Given the description of an element on the screen output the (x, y) to click on. 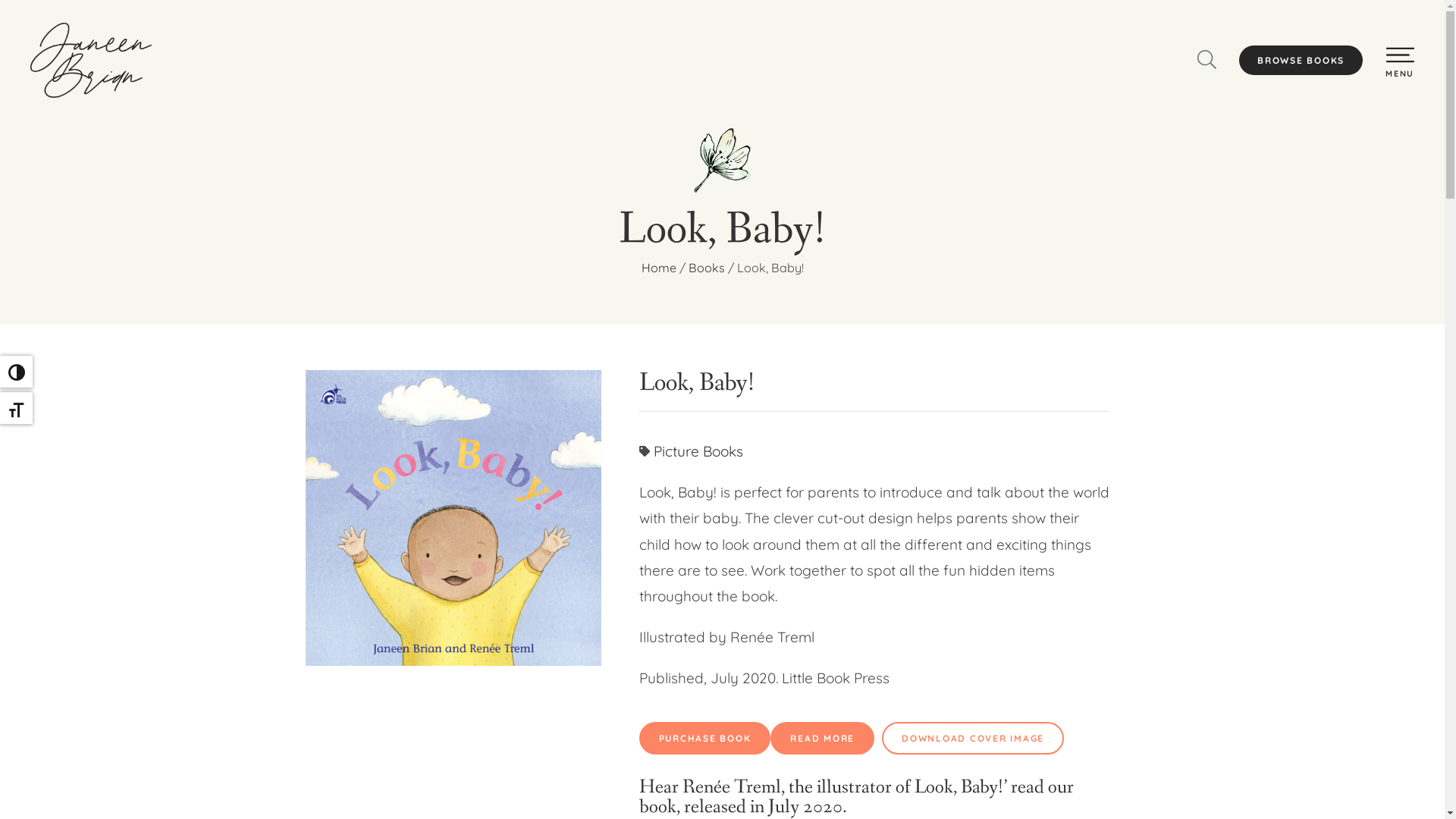
Toggle High Contrast Element type: text (16, 371)
MENU Element type: text (1399, 73)
DOWNLOAD COVER IMAGE Element type: text (972, 738)
PURCHASE BOOK Element type: text (704, 738)
Home Element type: text (658, 267)
READ MORE Element type: text (822, 738)
Toggle Font size Element type: text (16, 408)
BROWSE BOOKS Element type: text (1300, 60)
Books Element type: text (706, 267)
Picture Books Element type: text (698, 451)
